Given the description of an element on the screen output the (x, y) to click on. 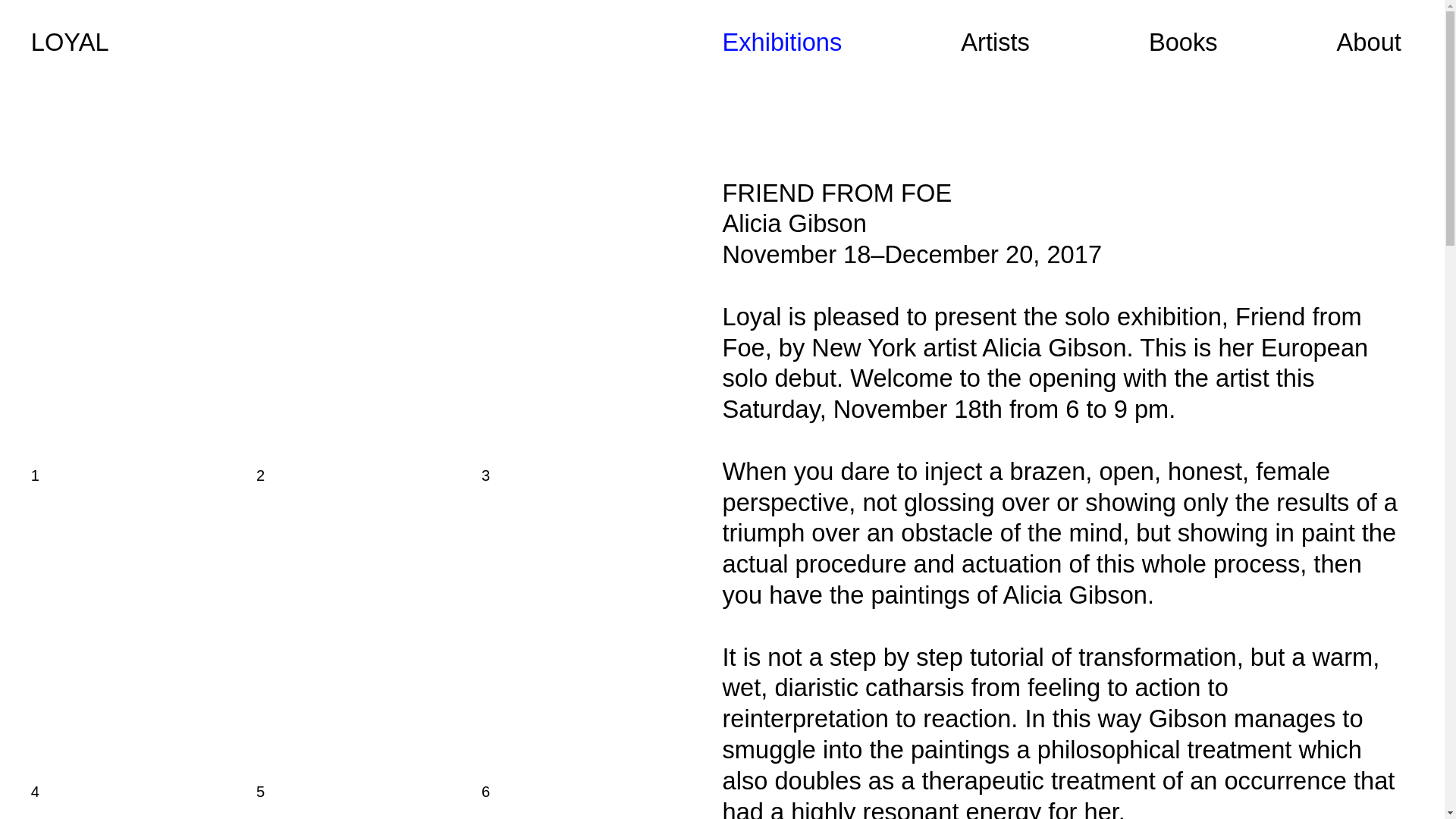
About (1368, 41)
Books (1182, 41)
Exhibitions (781, 41)
LOYAL (69, 41)
Artists (994, 41)
